Given the description of an element on the screen output the (x, y) to click on. 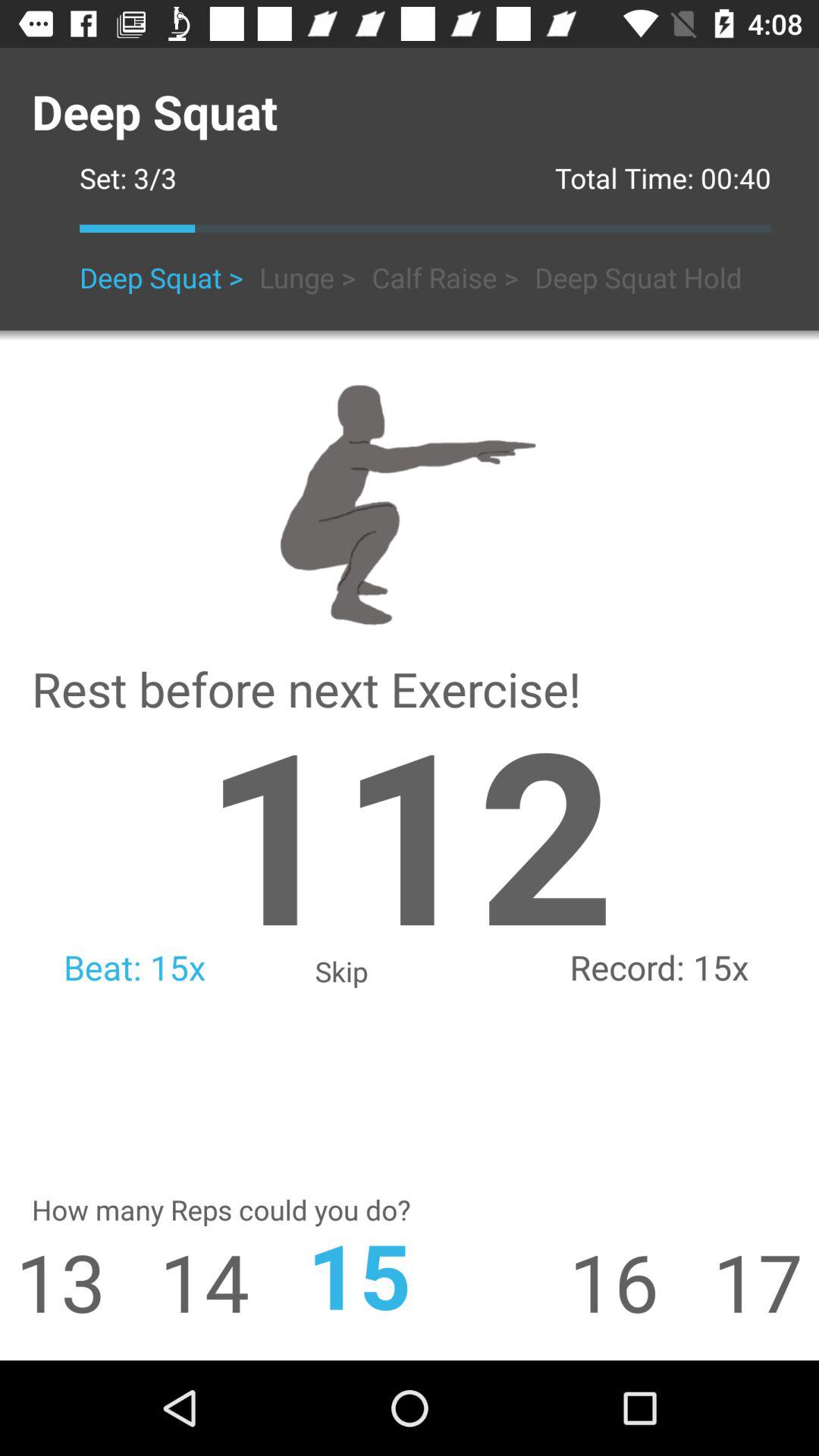
tap item next to the 16 item (409, 1274)
